Given the description of an element on the screen output the (x, y) to click on. 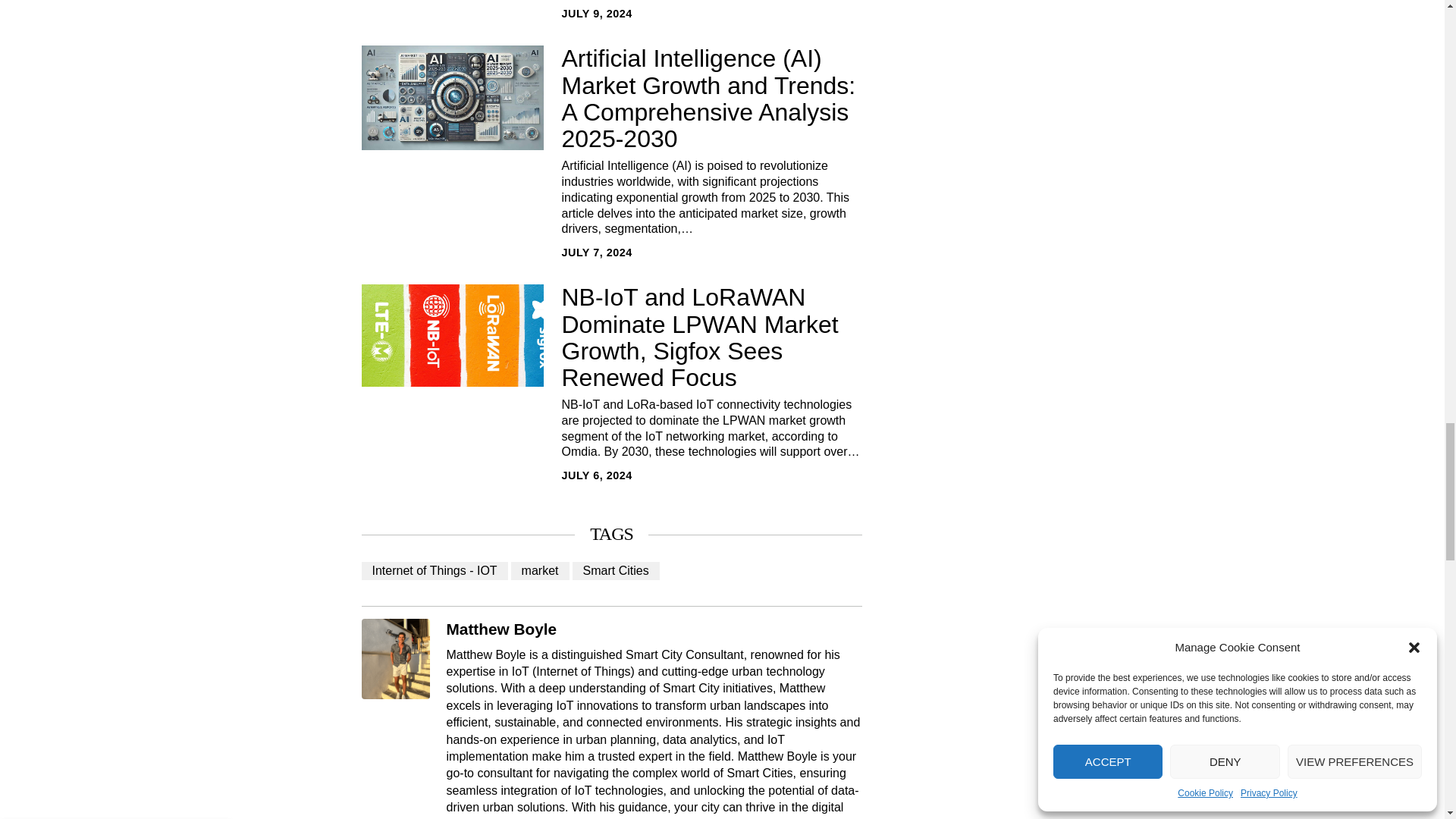
06 Jul, 2024 12:00:32 (595, 475)
09 Jul, 2024 12:00:59 (595, 13)
07 Jul, 2024 12:00:31 (595, 252)
